Given the description of an element on the screen output the (x, y) to click on. 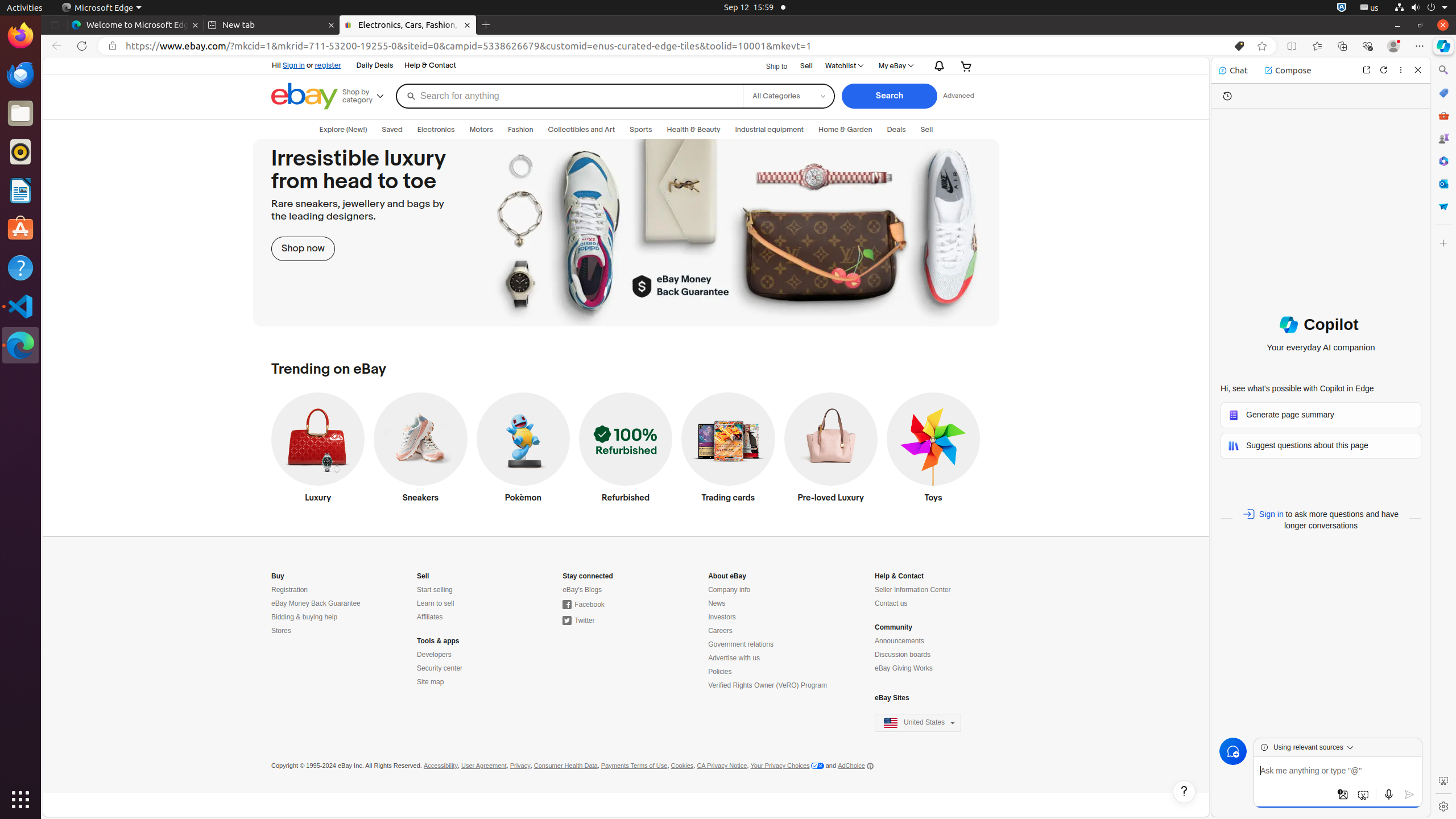
Verified Rights Owner (VeRO) Program Element type: link (767, 685)
Back Element type: push-button (54, 45)
Explore (New!) Element type: link (343, 129)
Add an image to search Element type: push-button (1342, 794)
Deals Element type: link (896, 129)
